Given the description of an element on the screen output the (x, y) to click on. 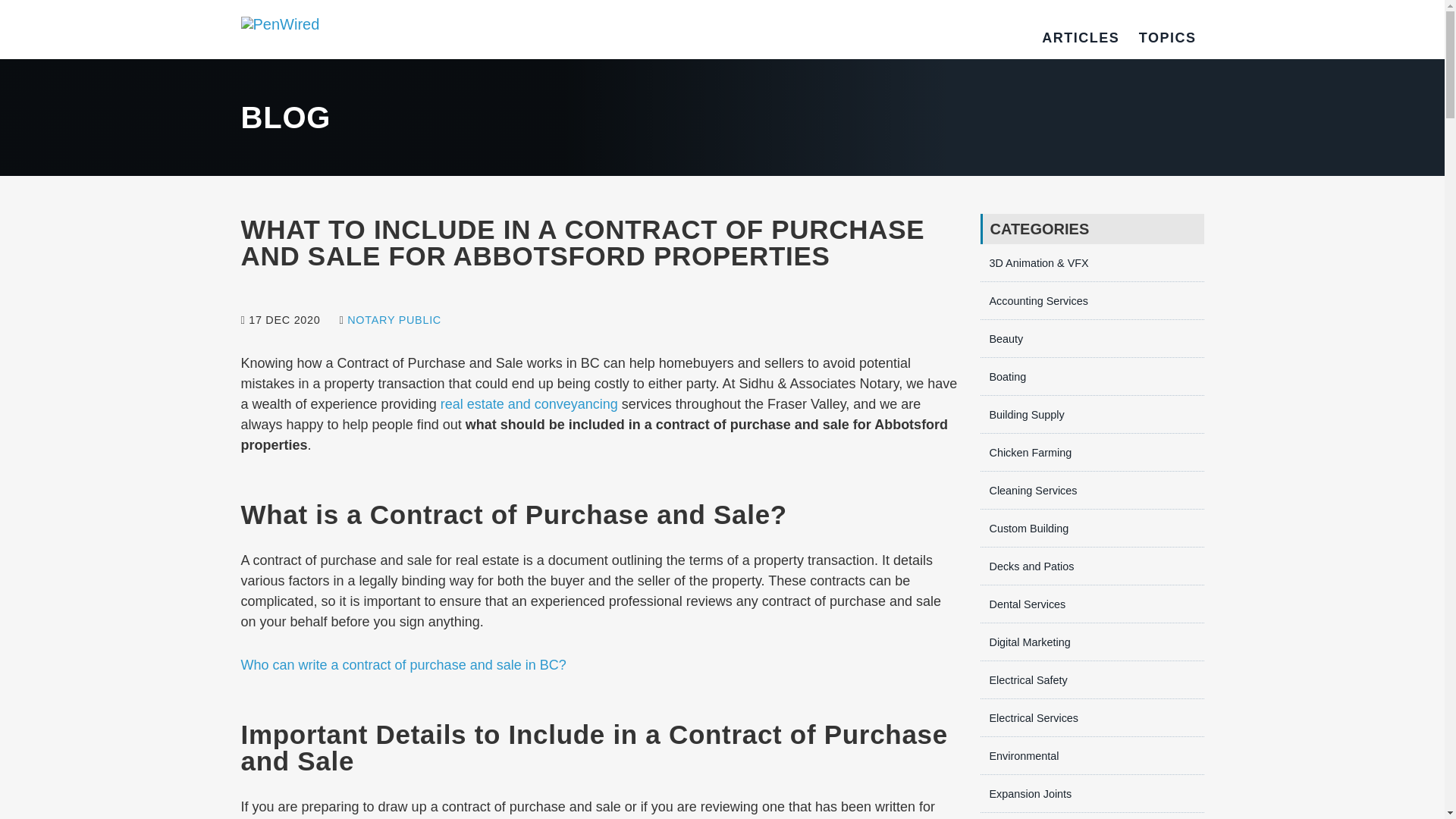
NOTARY PUBLIC (394, 319)
Who can write a contract of purchase and sale in BC? (403, 664)
Custom Building (1023, 528)
Chicken Farming (1025, 452)
ARTICLES (1080, 37)
Dental Services (1022, 604)
Beauty (1001, 338)
Electrical Safety (1023, 680)
Environmental (1018, 756)
Cleaning Services (1028, 490)
TOPICS (1167, 37)
Building Supply (1021, 414)
real estate and conveyancing (529, 403)
Boating (1002, 377)
Accounting Services (1033, 300)
